Given the description of an element on the screen output the (x, y) to click on. 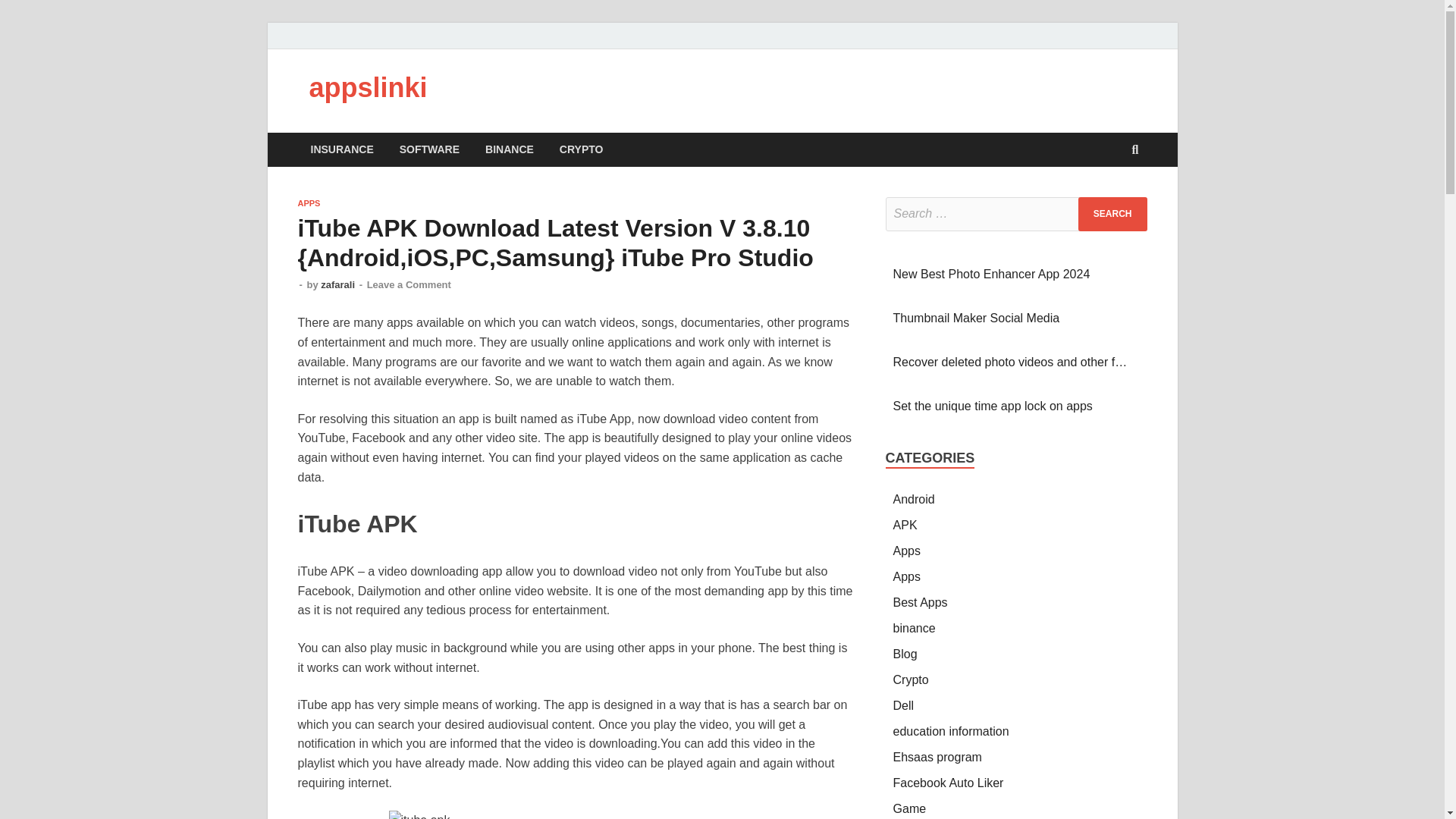
Android (913, 499)
Thumbnail Maker Social Media (976, 318)
SOFTWARE (429, 149)
Leave a Comment (408, 284)
Set the unique time app lock on apps (993, 405)
Apps (906, 550)
zafarali (337, 284)
Apps (906, 576)
Search (1112, 213)
APK (905, 524)
Search (1112, 213)
CRYPTO (581, 149)
BINANCE (509, 149)
appslinki (368, 87)
New Best Photo Enhancer App 2024 (991, 273)
